Given the description of an element on the screen output the (x, y) to click on. 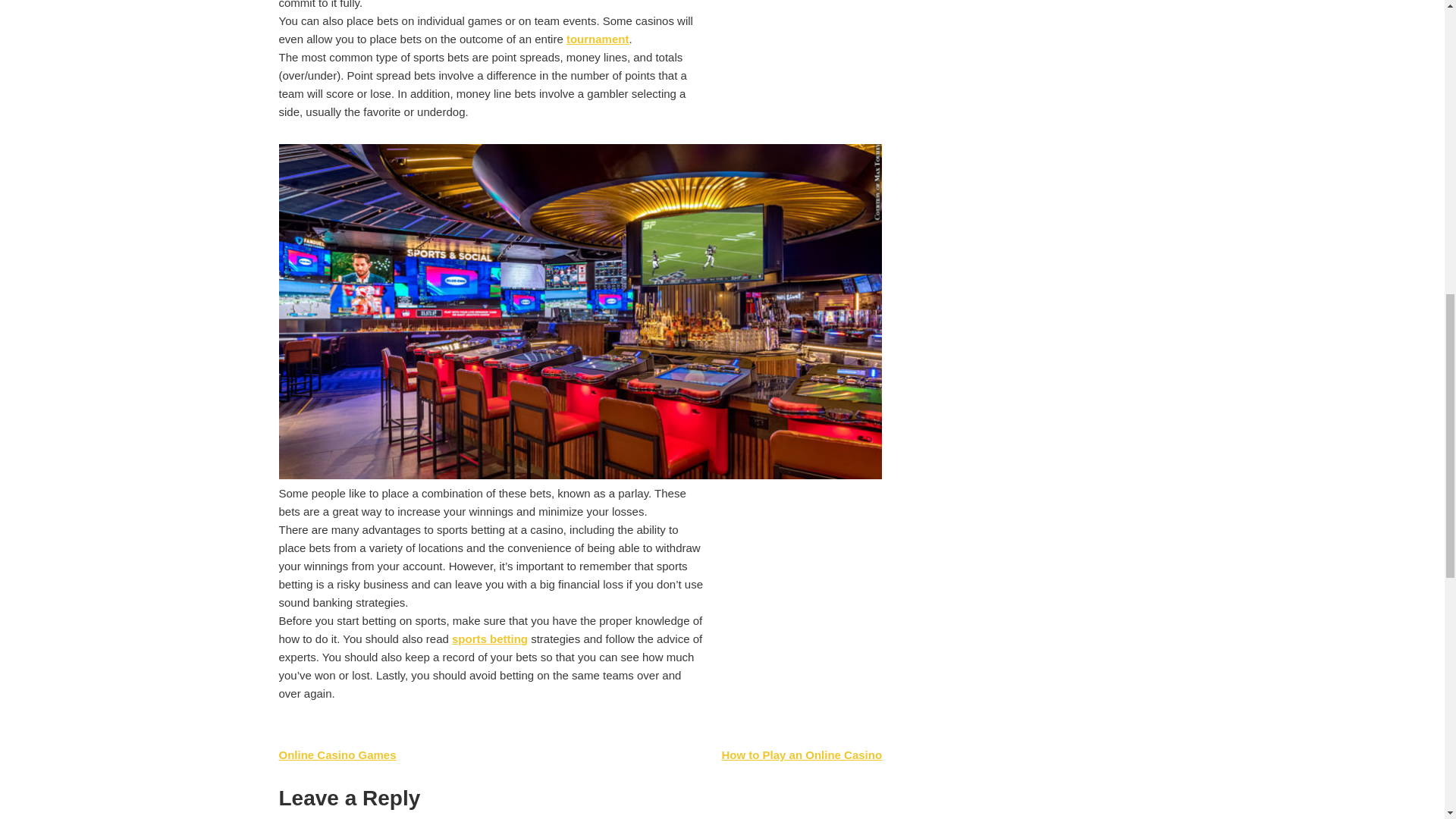
Online Casino Games (337, 754)
tournament (597, 38)
sports betting (489, 638)
How to Play an Online Casino (801, 754)
